Given the description of an element on the screen output the (x, y) to click on. 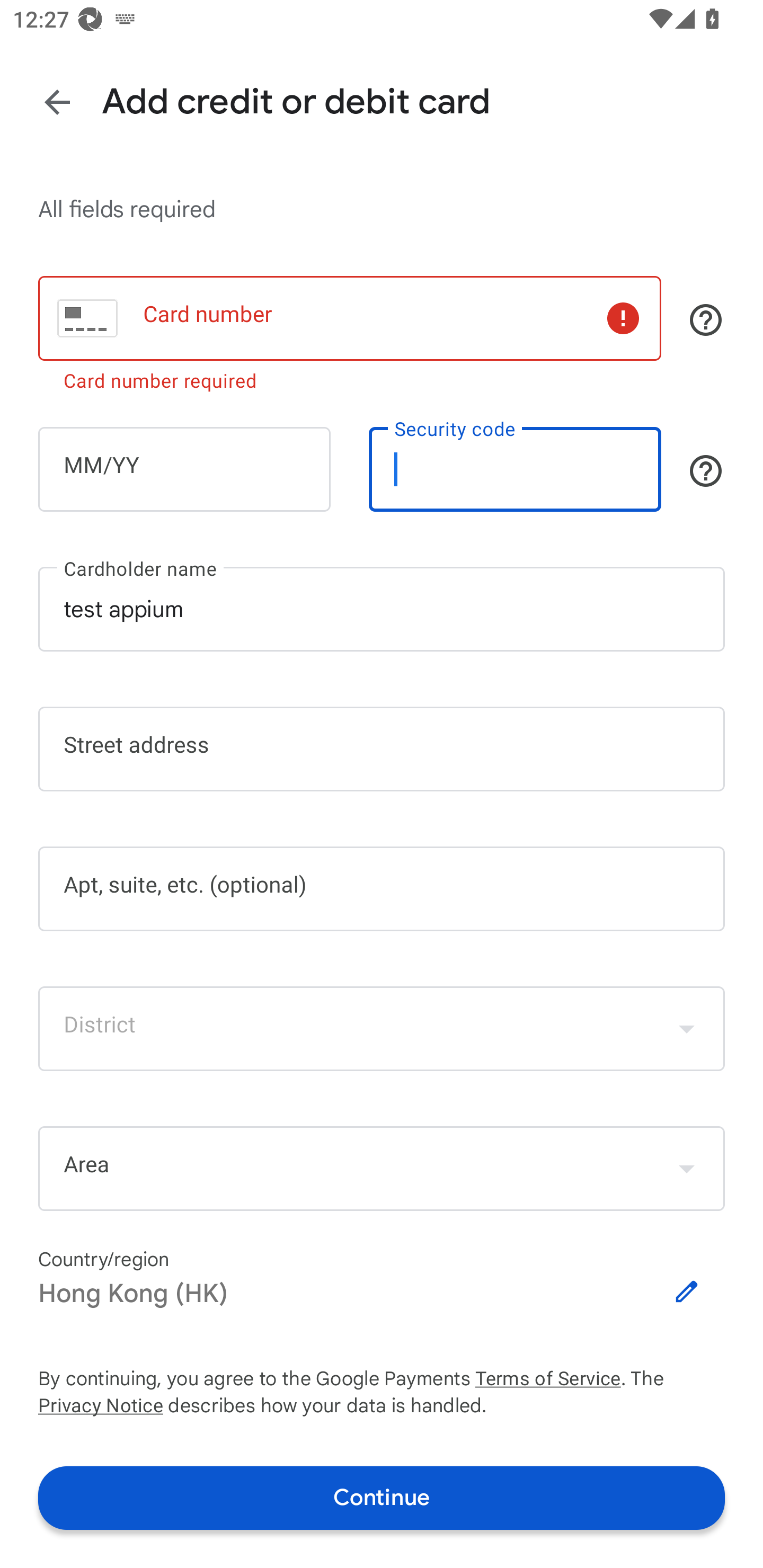
Back (57, 102)
Card number (349, 317)
Button, shows cards that are accepted for payment (705, 319)
Expiration date, 2 digit month, 2 digit year (184, 468)
Security code (514, 468)
Security code help (705, 470)
test appium (381, 609)
Street address (381, 749)
Apt, suite, etc. (optional) (381, 888)
District (381, 1028)
Show dropdown menu (686, 1028)
Area (381, 1167)
Show dropdown menu (686, 1168)
country edit button (686, 1290)
Terms of Service (547, 1378)
Privacy Notice (100, 1406)
Continue (381, 1498)
